Given the description of an element on the screen output the (x, y) to click on. 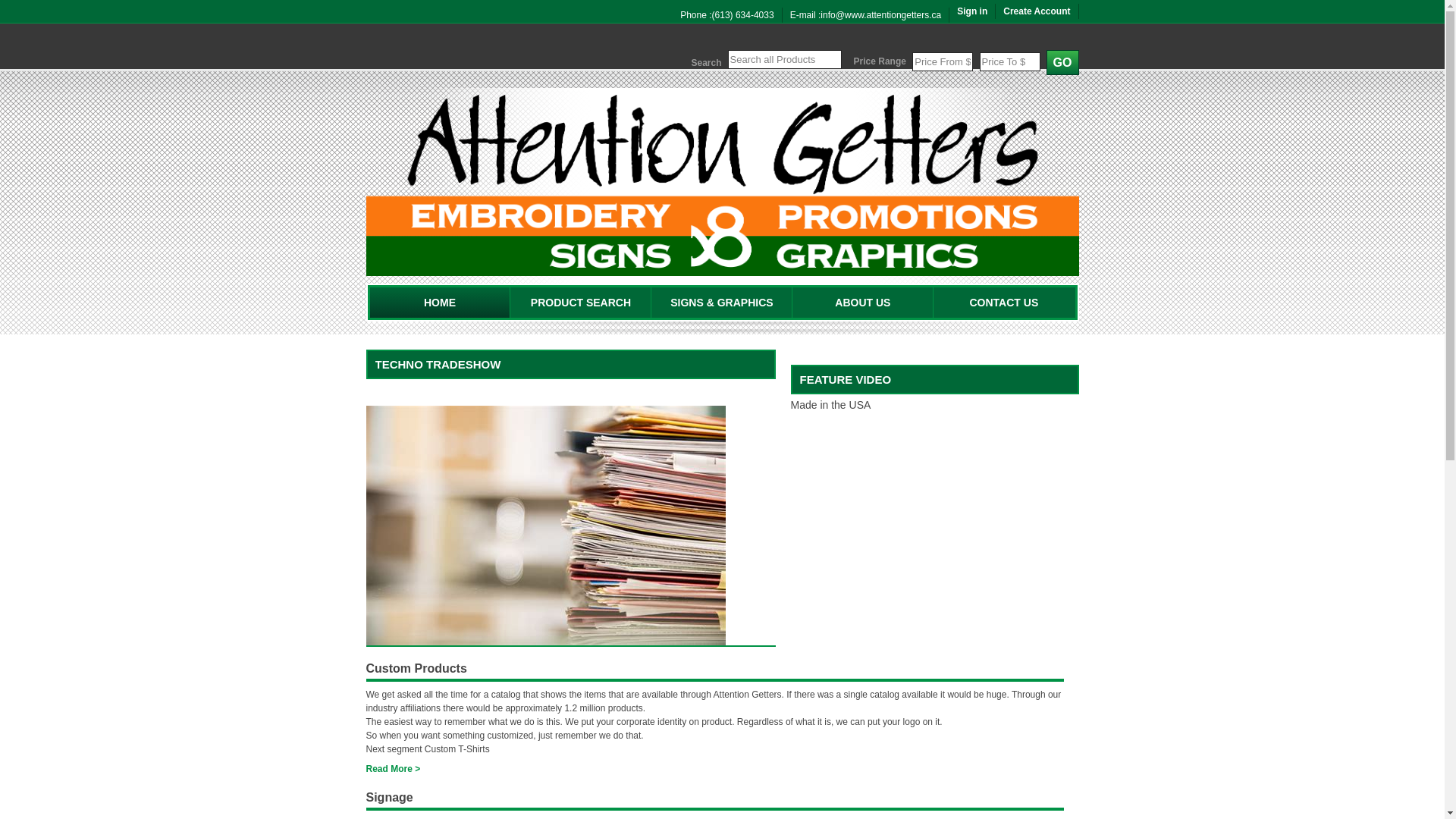
info@www.attentiongetters.ca Element type: text (880, 14)
PRODUCT SEARCH Element type: text (580, 302)
ABOUT US Element type: text (862, 302)
SIGNS & GRAPHICS Element type: text (721, 302)
Search Element type: text (21, 7)
HOME Element type: text (440, 302)
GO Element type: text (1062, 62)
Sign in Element type: text (972, 10)
Create Account Element type: text (1036, 10)
Read More Element type: text (392, 768)
CONTACT US Element type: text (1003, 302)
